Given the description of an element on the screen output the (x, y) to click on. 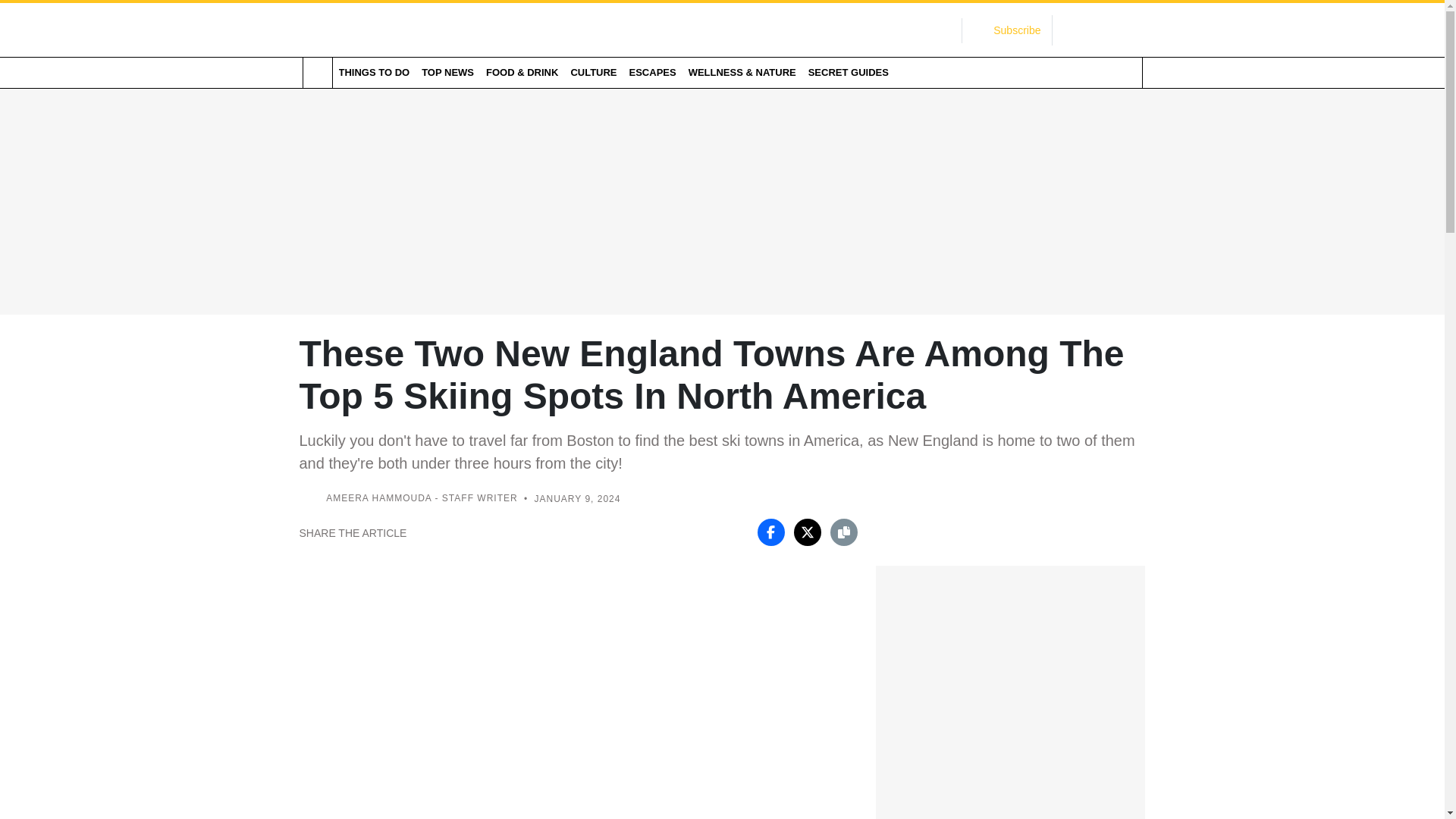
AMEERA HAMMOUDA (378, 498)
TOP NEWS (448, 72)
ESCAPES (652, 72)
CULTURE (592, 72)
THINGS TO DO (373, 72)
SECRET GUIDES (848, 72)
